Given the description of an element on the screen output the (x, y) to click on. 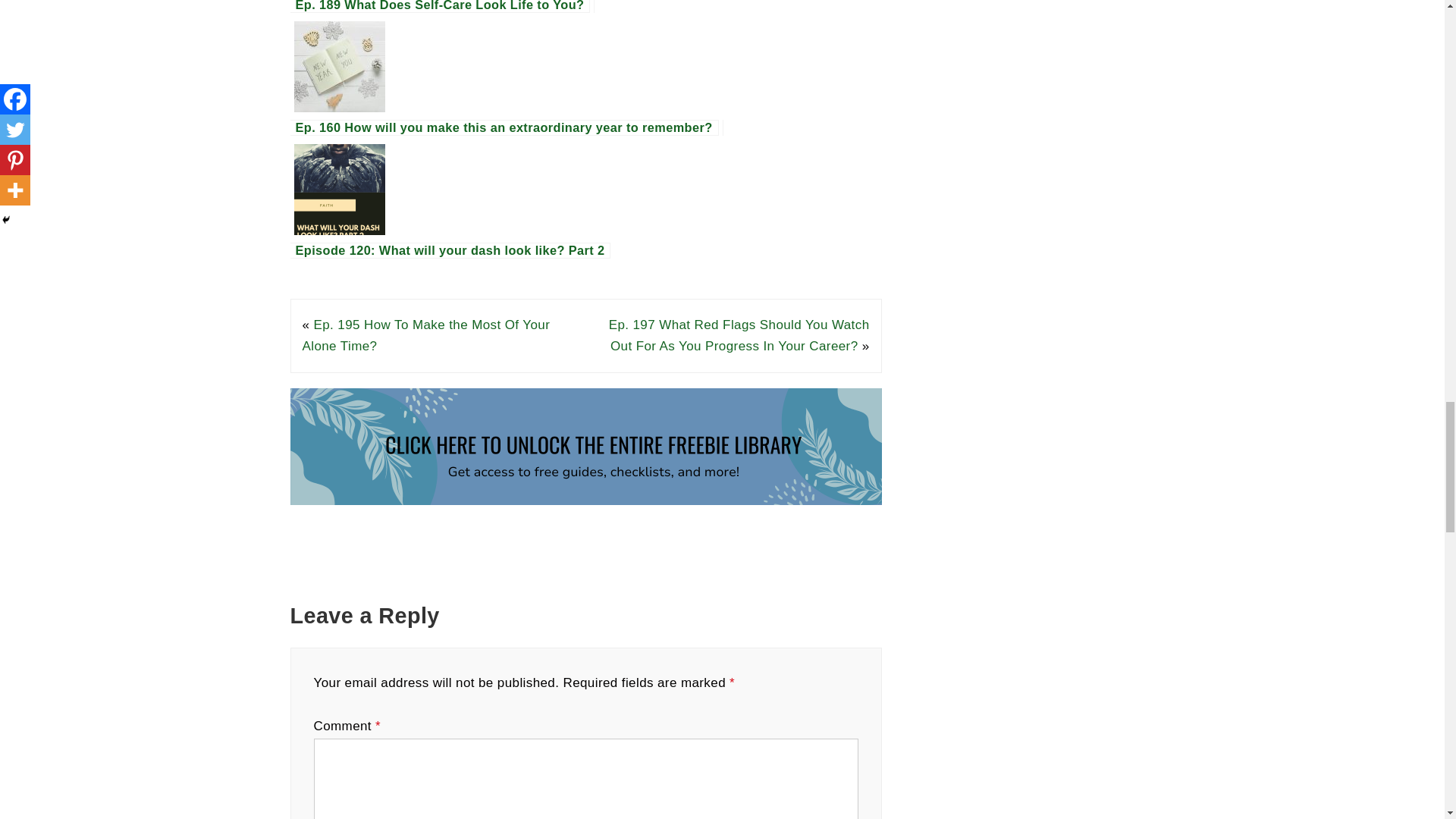
Ep. 189 What Does Self-Care Look Life to You? (584, 6)
Episode 120: What will your dash look like? Part 2 (584, 188)
